Given the description of an element on the screen output the (x, y) to click on. 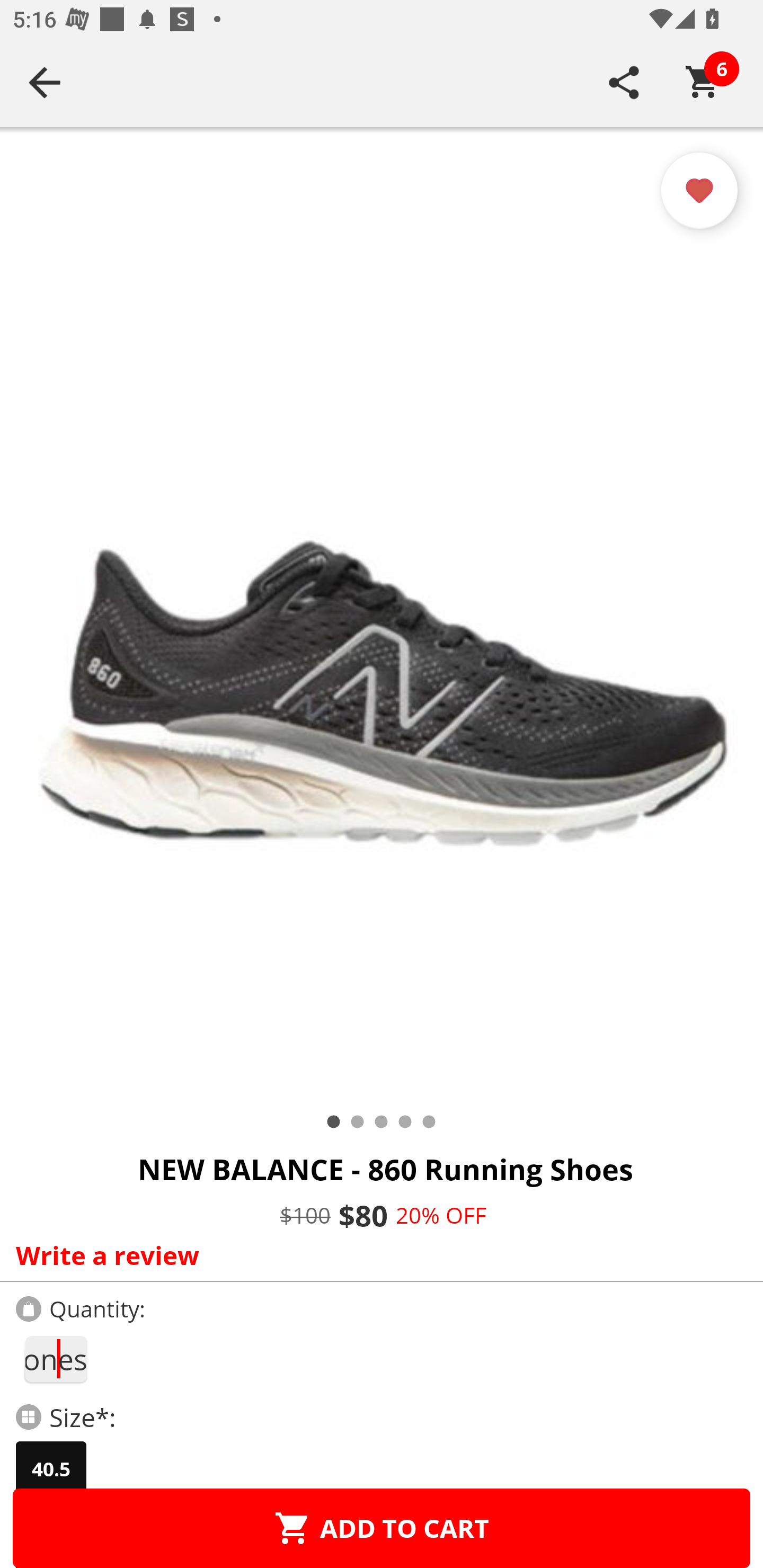
Navigate up (44, 82)
SHARE (623, 82)
Cart (703, 81)
Write a review (377, 1255)
1headphones (55, 1358)
40.5 (51, 1468)
ADD TO CART (381, 1528)
